Given the description of an element on the screen output the (x, y) to click on. 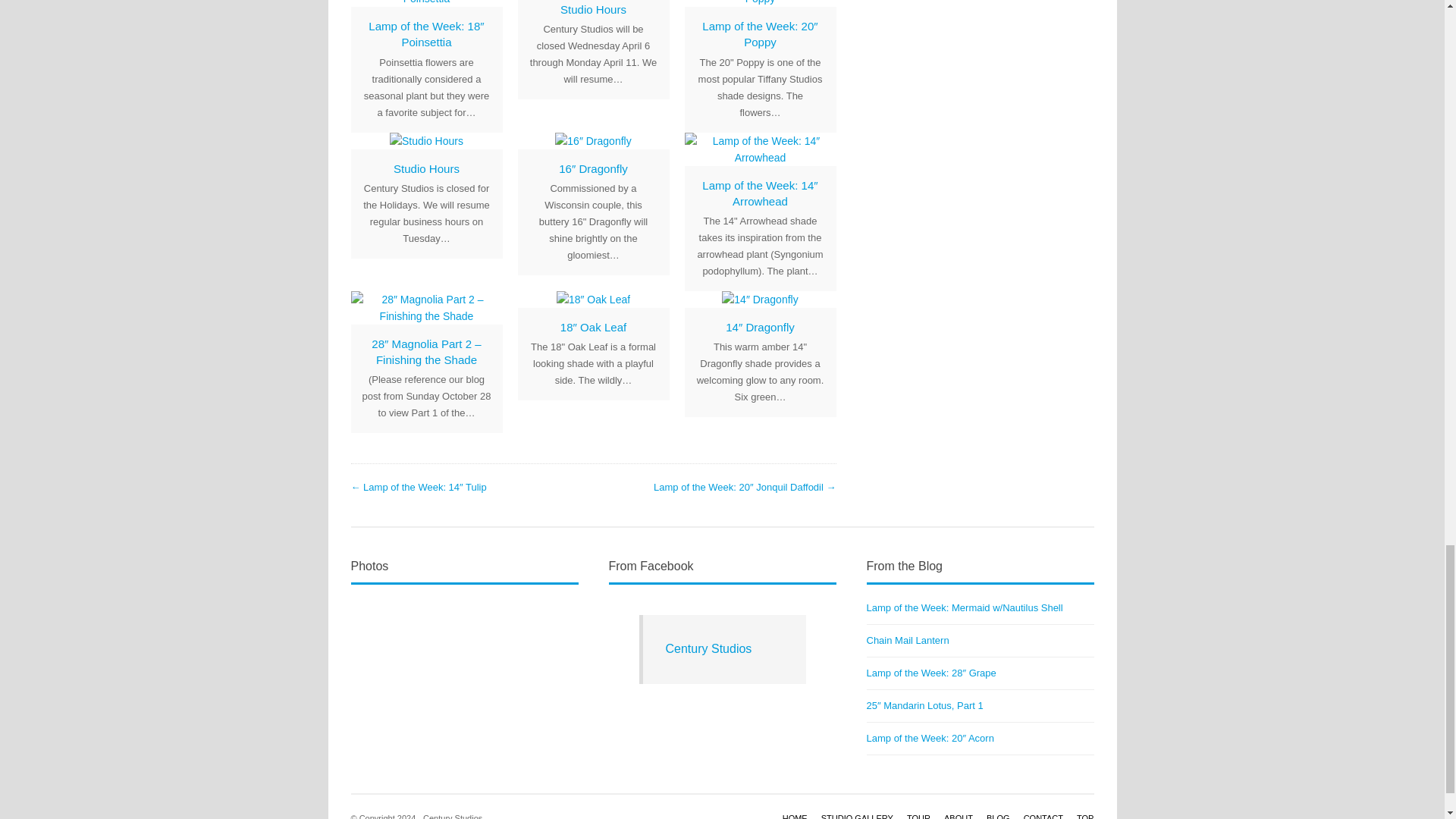
Studio Hours (426, 168)
Studio Hours (593, 9)
Studio Hours (593, 9)
Studio Hours (426, 140)
Studio Hours (426, 168)
